Given the description of an element on the screen output the (x, y) to click on. 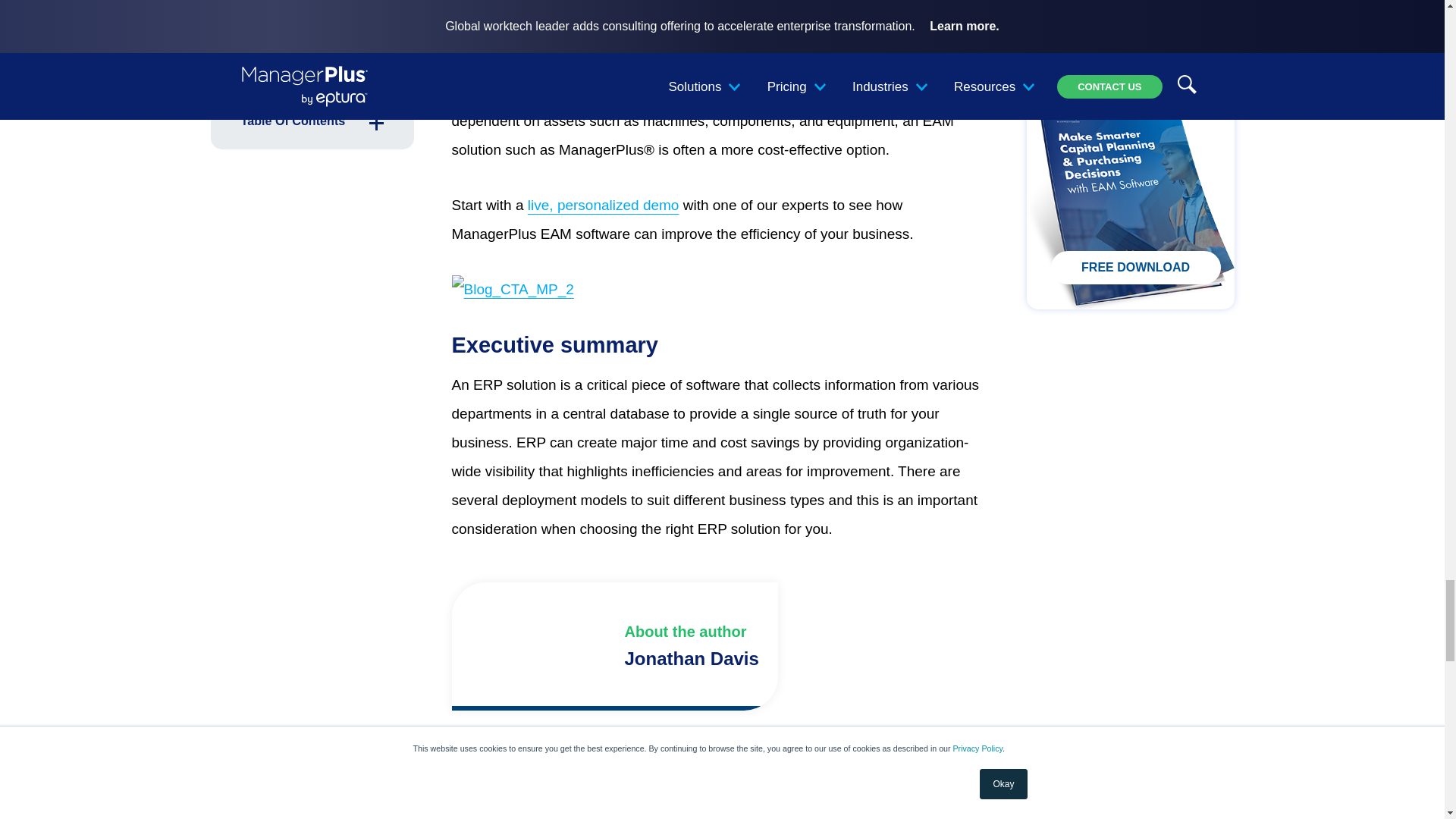
Share on LinkedIn (804, 784)
Share on Facebook (713, 784)
Email (849, 784)
Tweet (759, 784)
